Given the description of an element on the screen output the (x, y) to click on. 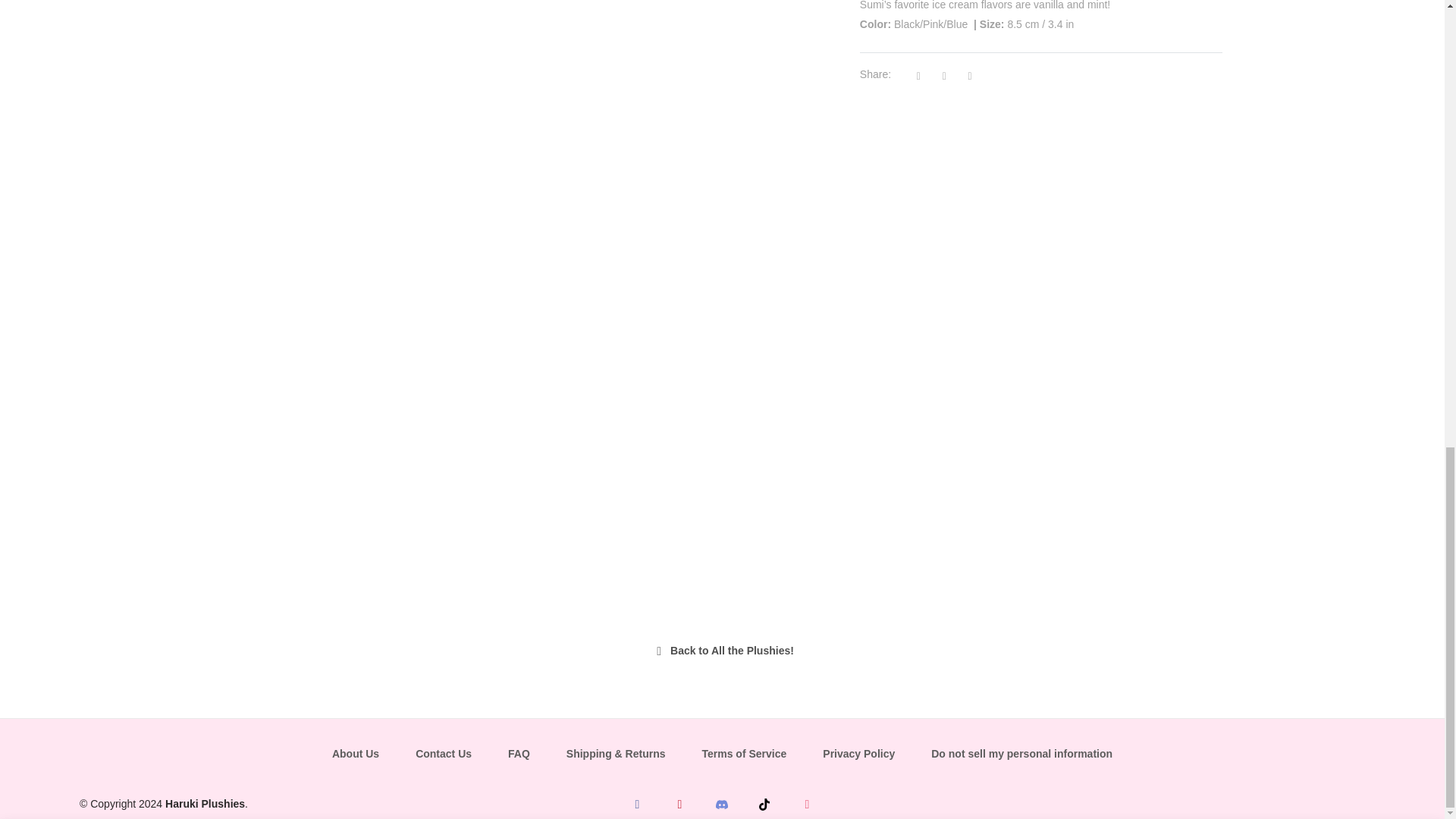
Pin on Pinterest (973, 75)
Tweet on Twitter (949, 75)
Share on Facebook (923, 75)
